Given the description of an element on the screen output the (x, y) to click on. 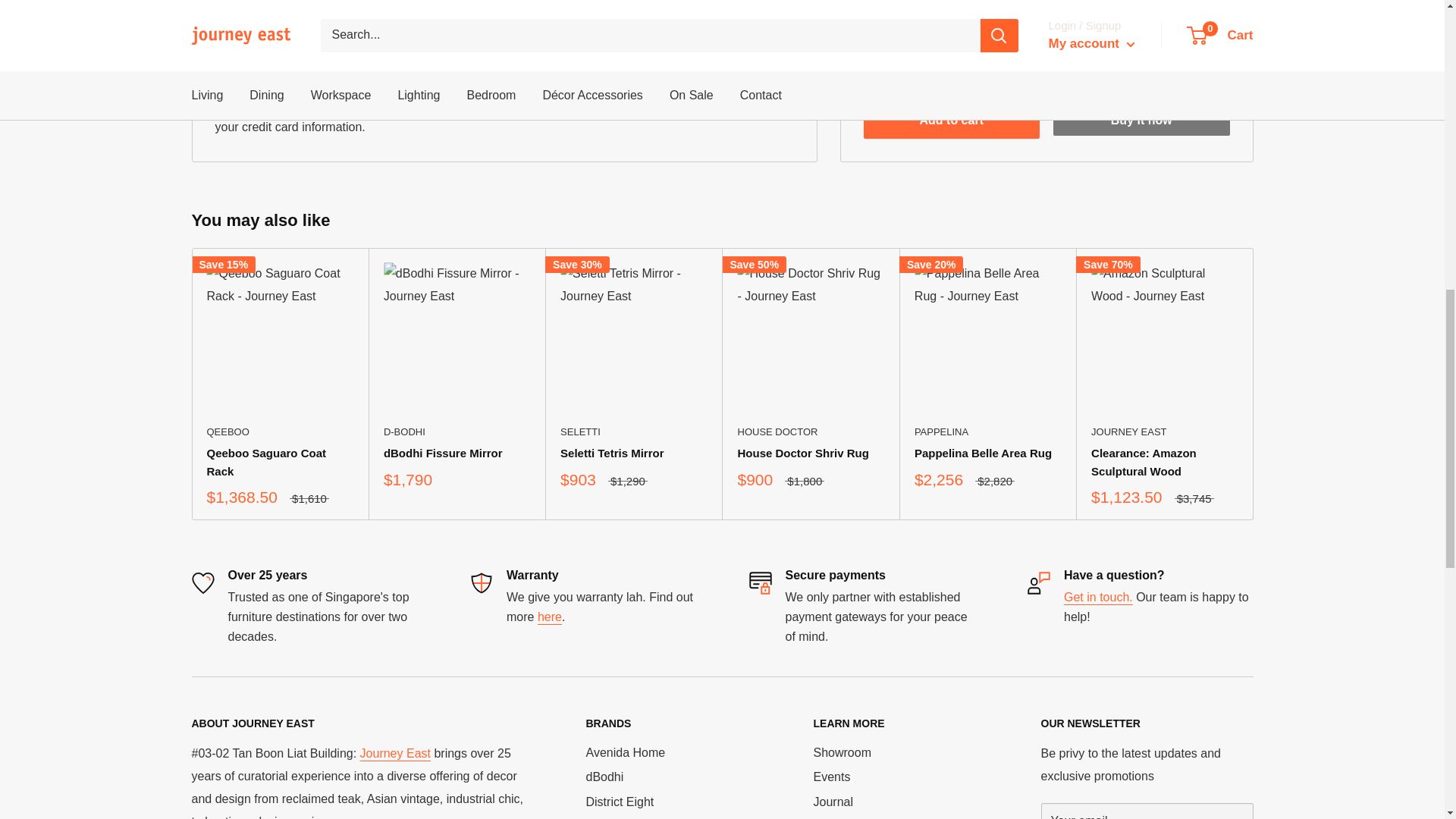
About (394, 753)
About (352, 816)
Hello from the other side (1098, 596)
Returns, Warranty, and Storage (549, 616)
